Given the description of an element on the screen output the (x, y) to click on. 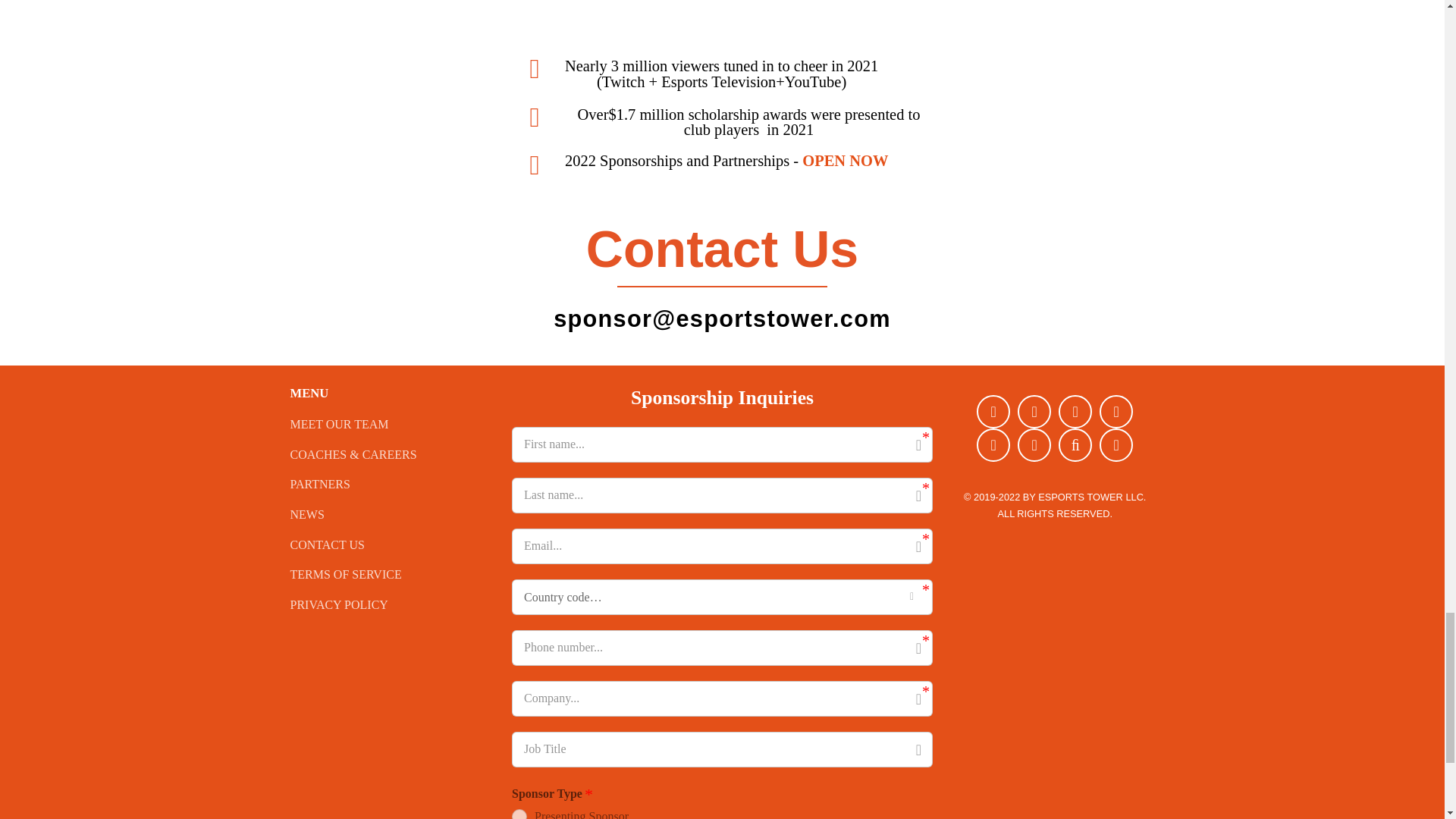
NEWS (389, 514)
CONTACT US (389, 544)
MEET OUR TEAM (389, 424)
PARTNERS (389, 484)
